Given the description of an element on the screen output the (x, y) to click on. 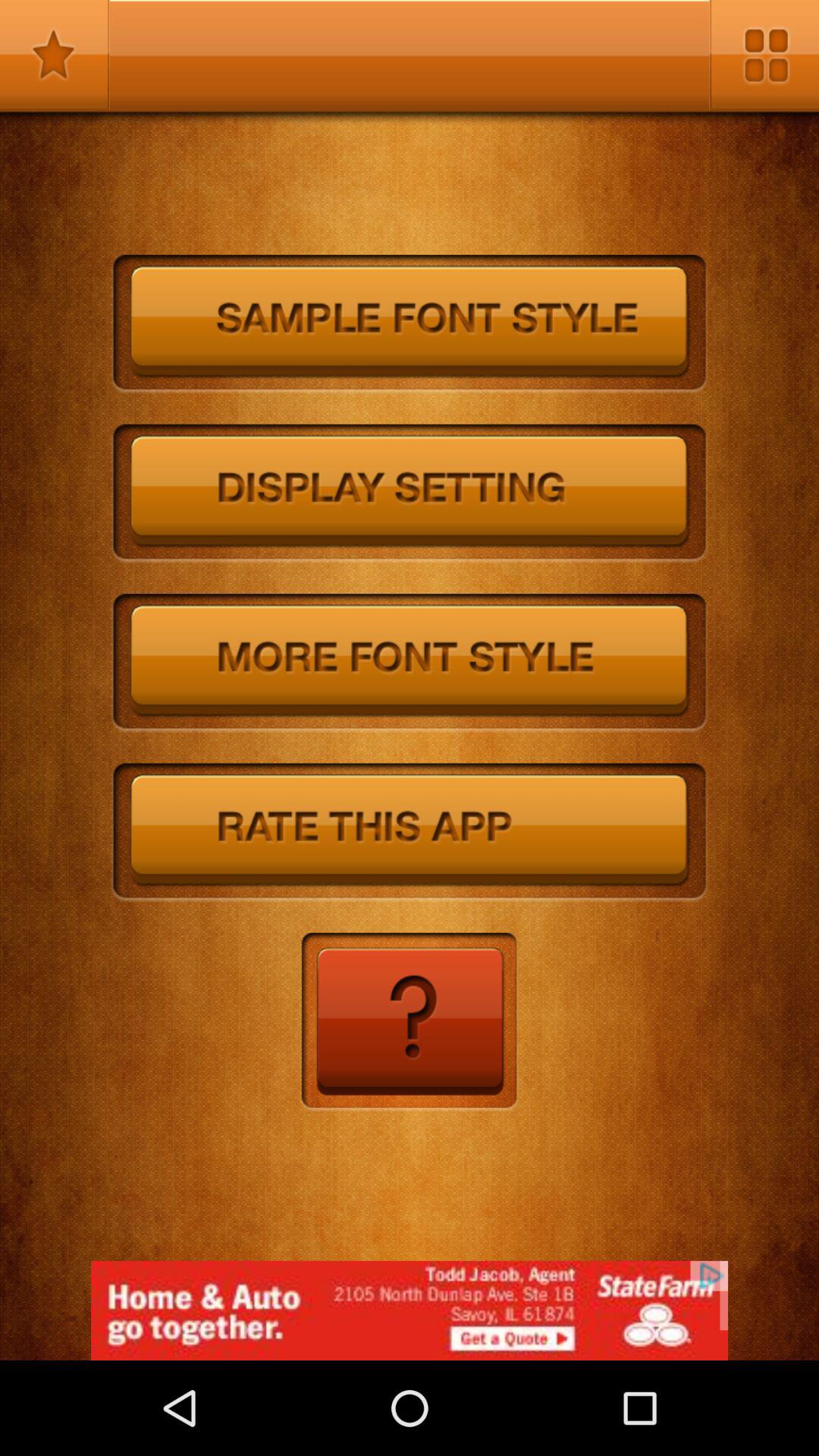
menu option (764, 54)
